Given the description of an element on the screen output the (x, y) to click on. 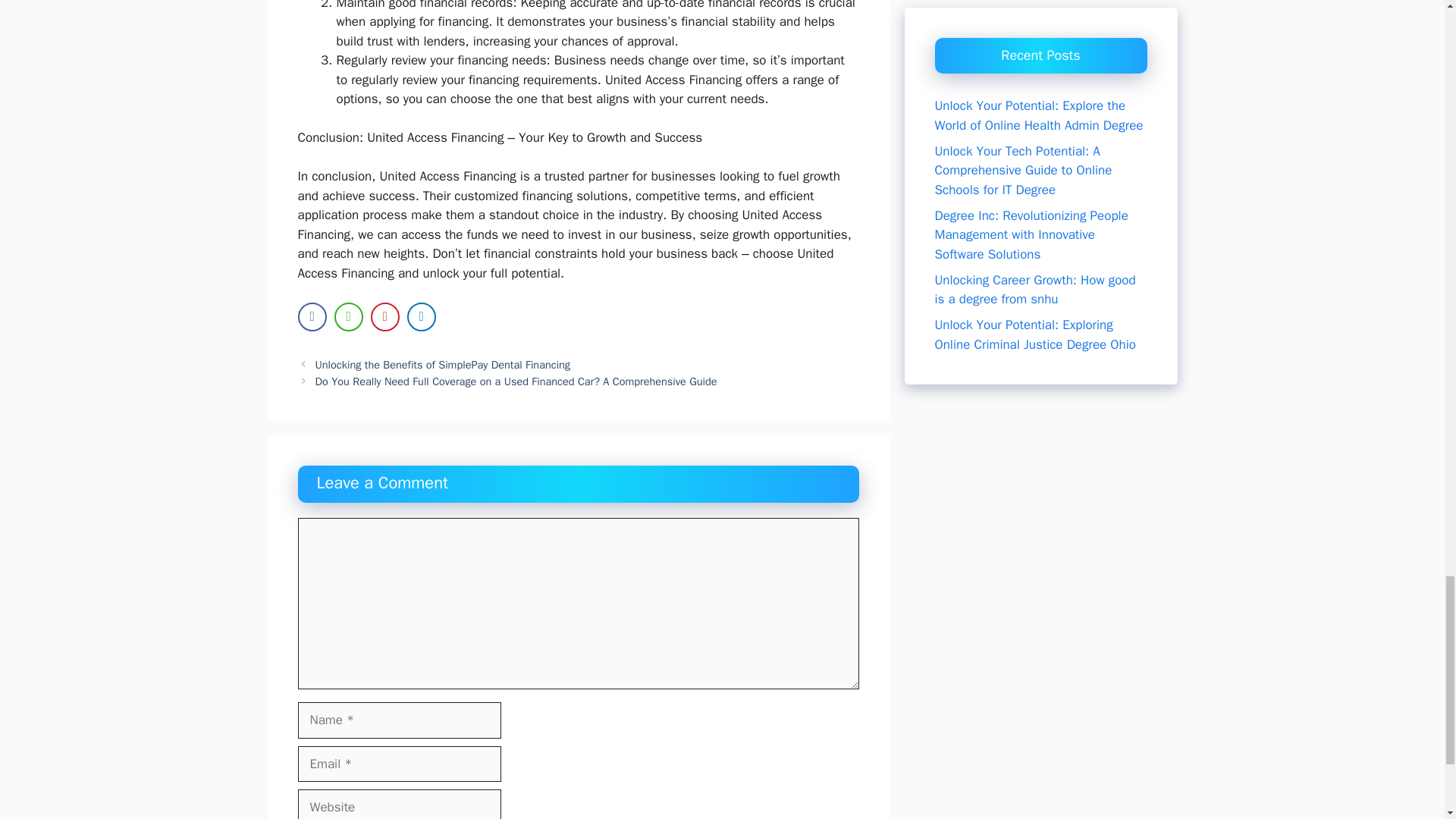
Unlocking the Benefits of SimplePay Dental Financing (442, 364)
